Given the description of an element on the screen output the (x, y) to click on. 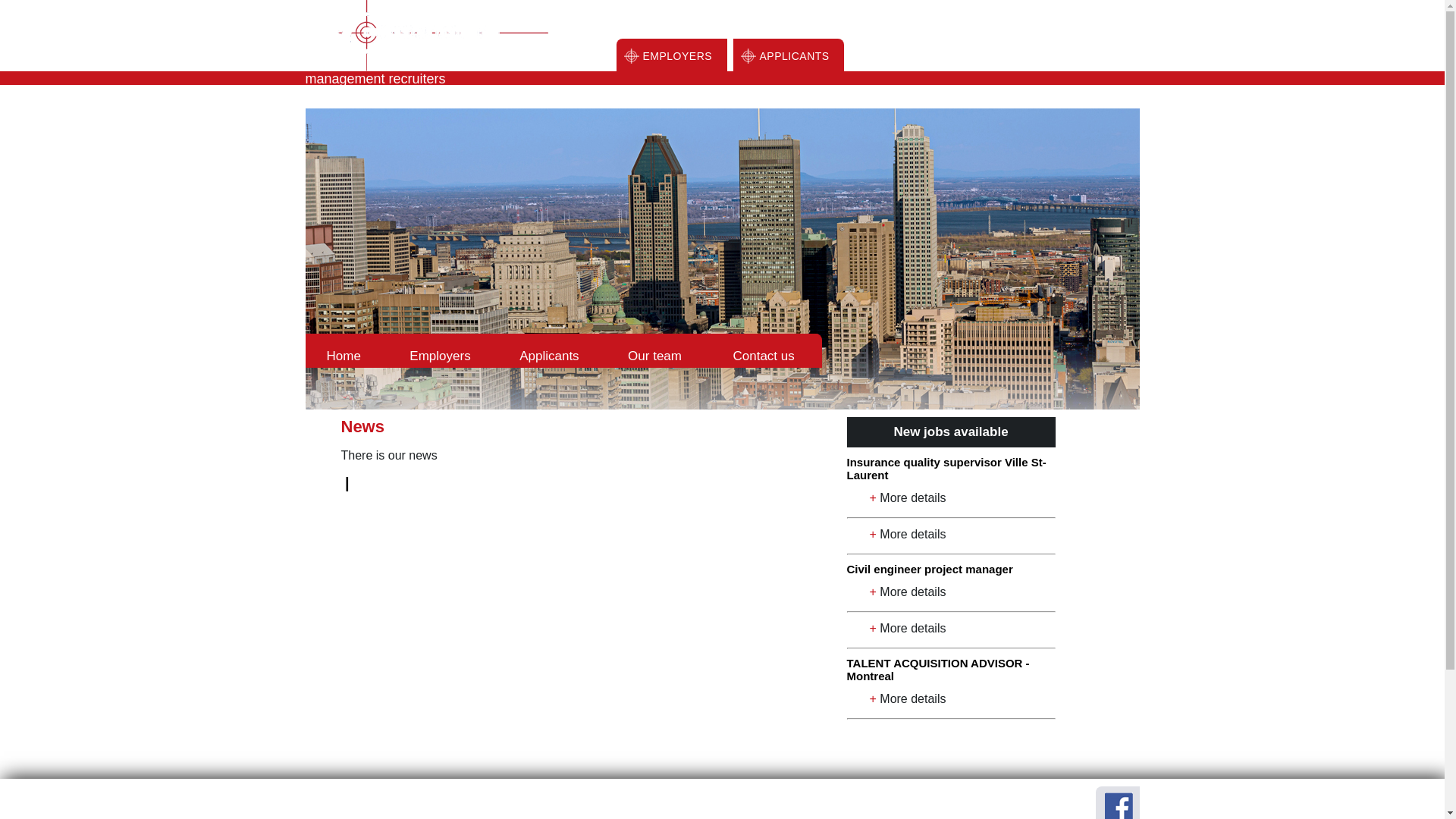
Home Element type: text (336, 795)
BCRH - Candidats Element type: hover (747, 55)
More details Element type: text (912, 591)
EMPLOYERS Element type: text (677, 56)
Contact us Element type: text (765, 350)
More details Element type: text (912, 497)
APPLICANTS Element type: text (794, 56)
Our team Element type: text (657, 350)
BC Ressources humaines Element type: hover (425, 35)
Home Element type: text (346, 350)
BCRH - Erreur 404 Element type: hover (721, 258)
BCRH - Employers Element type: hover (630, 55)
Applicants Element type: text (552, 350)
More details Element type: text (912, 627)
More details Element type: text (912, 698)
Employers Element type: text (443, 350)
More details Element type: text (912, 533)
